Given the description of an element on the screen output the (x, y) to click on. 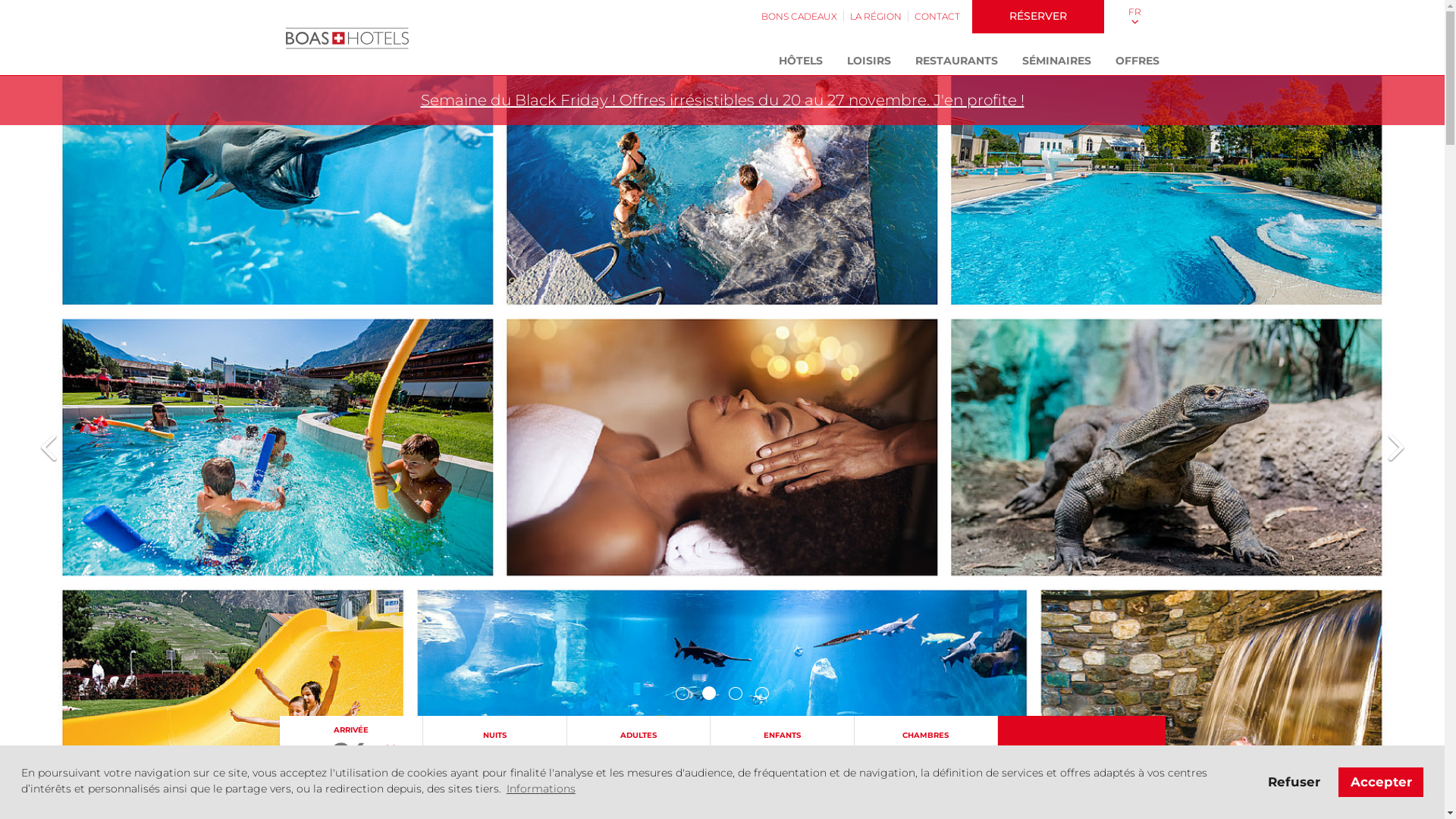
OFFRES Element type: text (1136, 61)
BONS CADEAUX Element type: text (799, 16)
Informations Element type: text (540, 788)
FR Element type: text (1134, 16)
LOISIRS Element type: text (868, 61)
CONTACT Element type: text (937, 16)
4 Element type: text (762, 692)
Accepter Element type: text (1380, 781)
RESTAURANTS Element type: text (955, 61)
3 Element type: text (734, 692)
2 Element type: text (709, 692)
1 Element type: text (681, 692)
Refuser Element type: text (1294, 781)
